Given the description of an element on the screen output the (x, y) to click on. 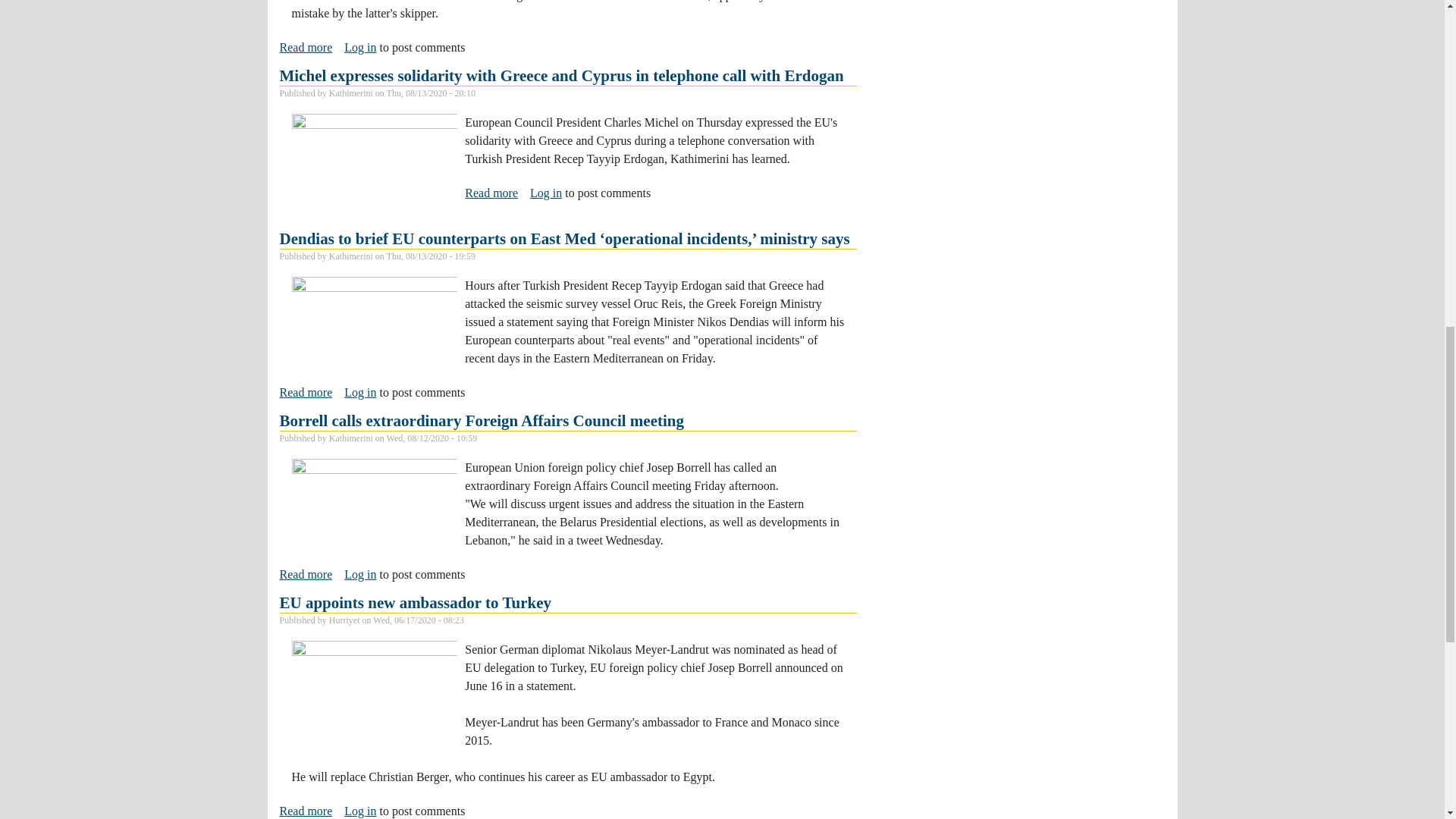
Log in (359, 47)
Log in (305, 47)
